Given the description of an element on the screen output the (x, y) to click on. 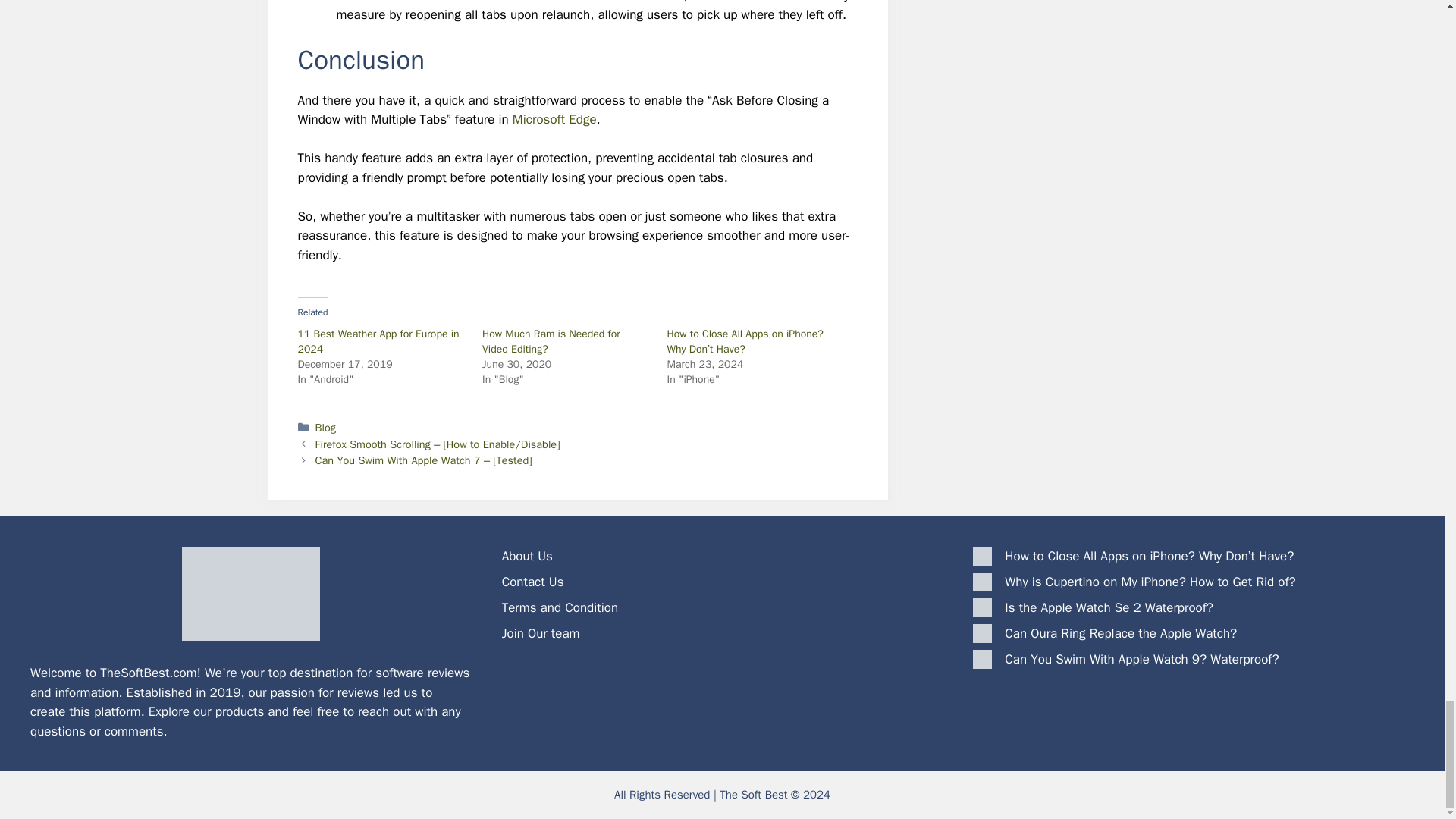
Contact Us (533, 581)
How Much Ram is Needed for Video Editing? (550, 341)
Blog (325, 427)
Microsoft Edge (554, 119)
11 Best Weather App for Europe in 2024 (377, 341)
About Us (527, 555)
Join Our team (540, 633)
Terms and Condition (559, 607)
